Given the description of an element on the screen output the (x, y) to click on. 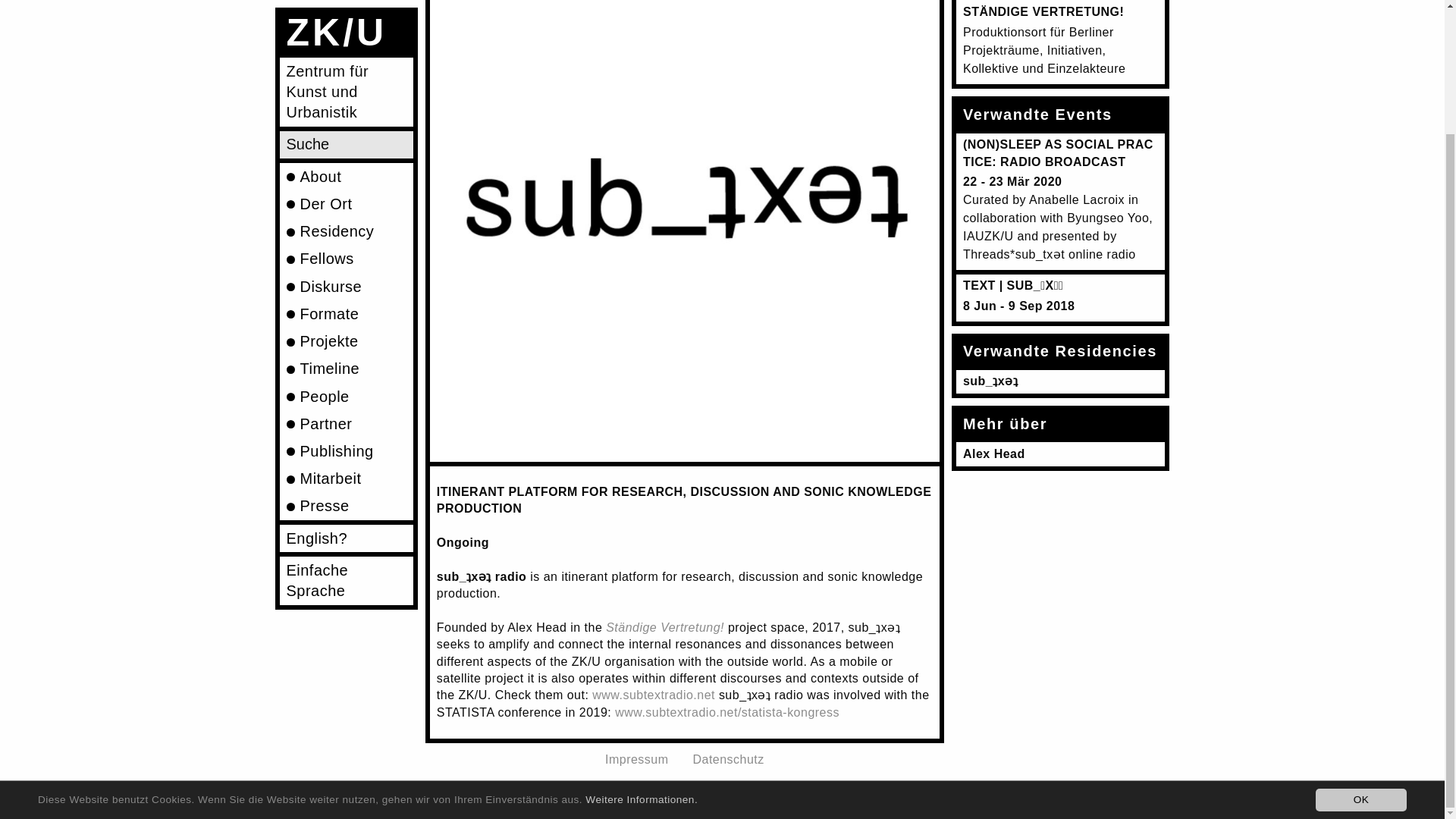
Fellows (345, 109)
Impressum (636, 758)
Diskurse (345, 136)
People (345, 247)
Presse (345, 357)
English? (345, 388)
Residency (345, 82)
Datenschutz (728, 758)
About (345, 26)
Partner (345, 274)
www.subtextradio.net (653, 694)
Projekte (345, 192)
Der Ort (345, 53)
Mitarbeit (345, 329)
Timeline (345, 219)
